Given the description of an element on the screen output the (x, y) to click on. 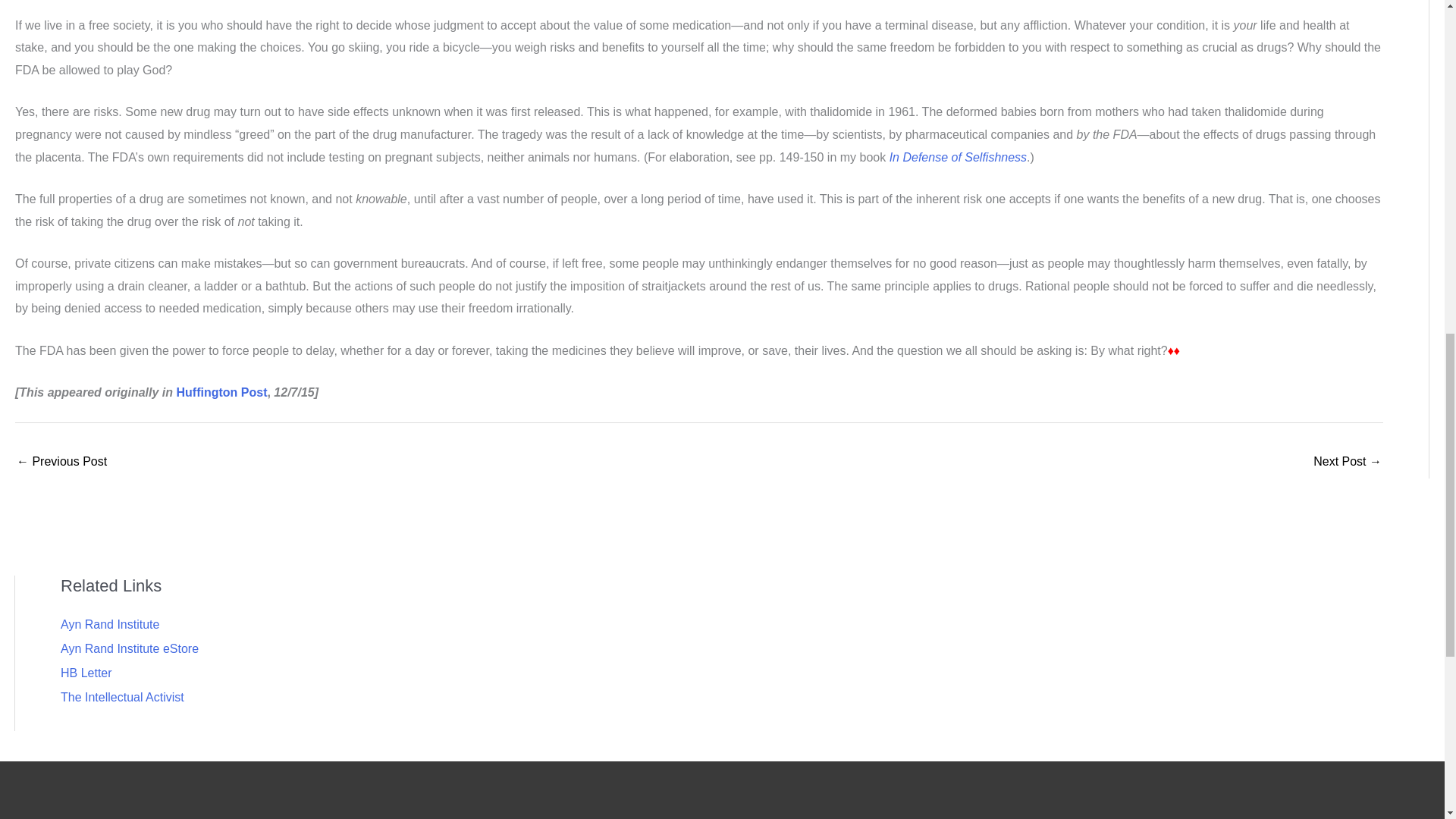
HB Letter (86, 672)
The Collectivist Mentality (61, 462)
The Intellectual Activist (122, 697)
Ayn Rand Institute (109, 624)
The Shackles of Paternalism (1347, 462)
Huffington Post (221, 391)
Ayn Rand Institute eStore (129, 648)
In Defense of Selfishness (957, 156)
